Given the description of an element on the screen output the (x, y) to click on. 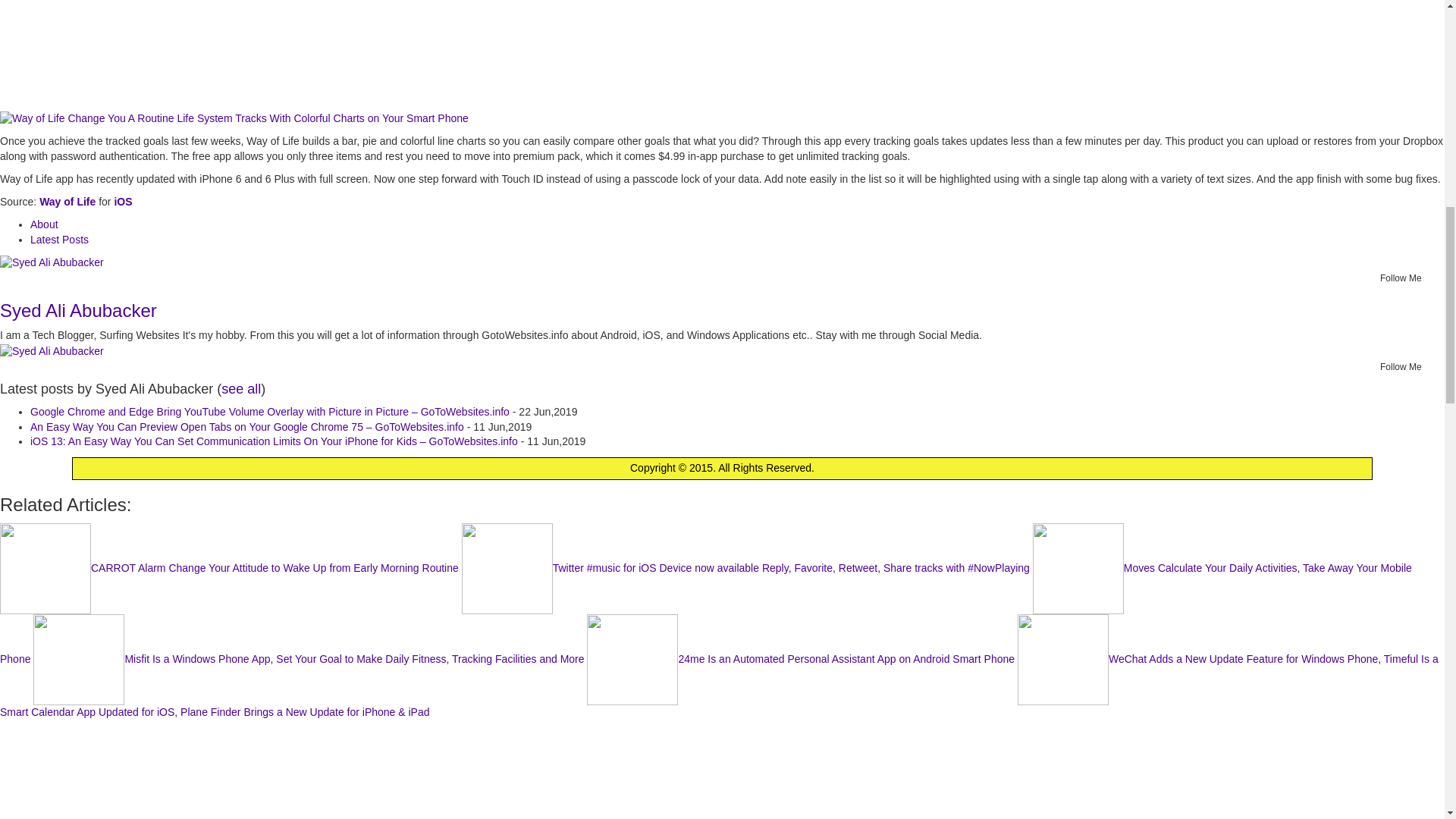
Way of Life (67, 201)
Syed Ali Abubacker (51, 262)
About (44, 224)
Latest Posts (59, 239)
iOS  (123, 201)
